Given the description of an element on the screen output the (x, y) to click on. 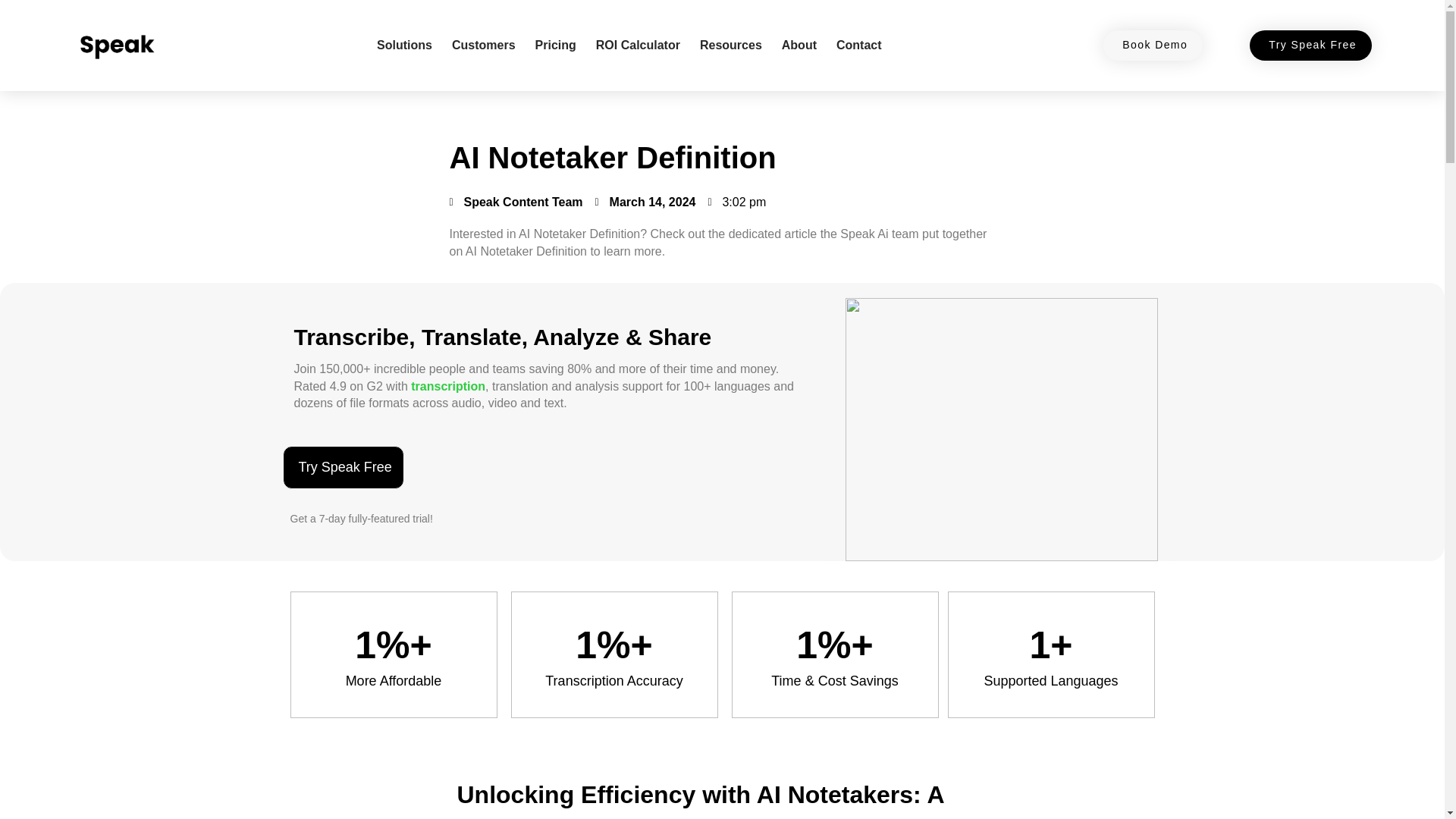
About (799, 45)
Resources (731, 45)
Customers (483, 45)
ROI Calculator (637, 45)
Solutions (404, 45)
Pricing (555, 45)
Contact (858, 45)
